Given the description of an element on the screen output the (x, y) to click on. 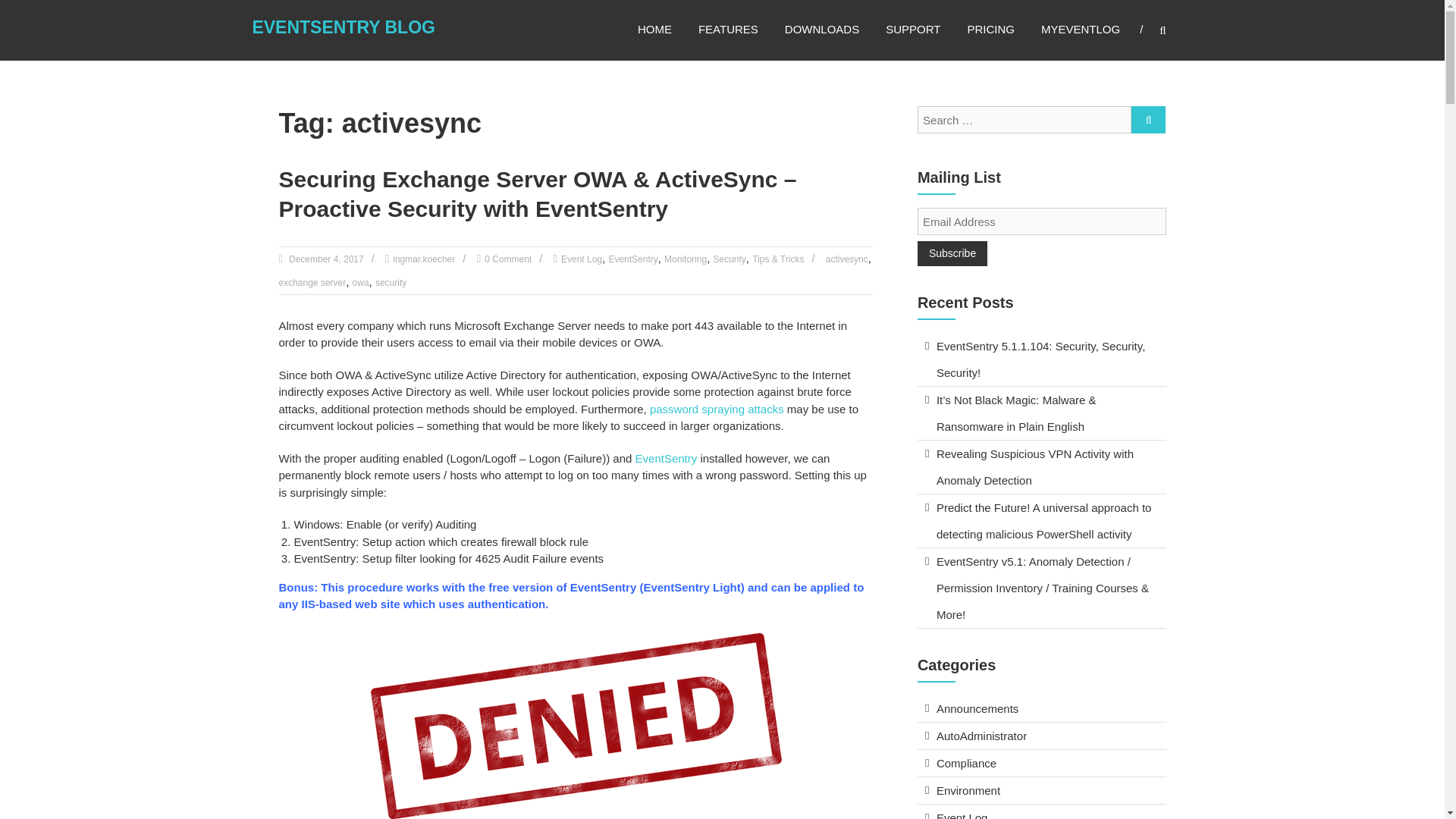
EventSentry Blog (343, 26)
activesync (846, 258)
DOWNLOADS (821, 29)
Event Log (581, 258)
security (390, 282)
December 4, 2017 (325, 258)
Revealing Suspicious VPN Activity with Anomaly Detection (1035, 466)
EventSentry (633, 258)
Security (729, 258)
Search (1148, 119)
EventSentry 5.1.1.104: Security, Security, Security! (1040, 359)
ingmar.koecher (423, 258)
exchange server (312, 282)
0 Comment (507, 258)
